Given the description of an element on the screen output the (x, y) to click on. 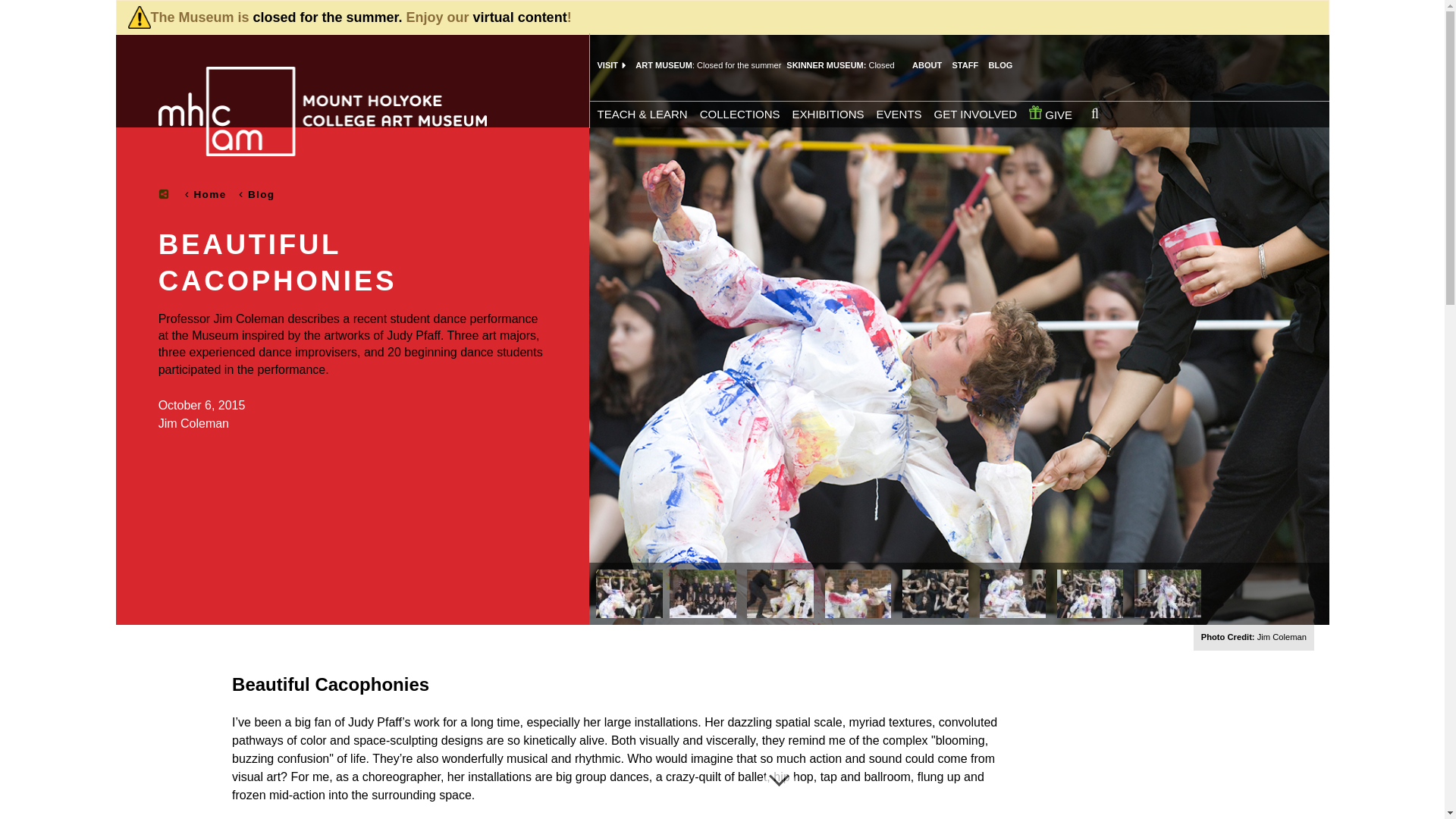
Mount Holyoke College Art Museum (322, 111)
Student dancers perform outside the Museum (628, 593)
Student dancers perform outside the Museum (1167, 593)
Student dancers perform outside the Museum (1012, 593)
Student dancers perform outside the Museum (858, 593)
Student dancers perform outside the Museum (702, 593)
Student dancers perform outside the Museum (935, 593)
closed for the summer. (328, 17)
Student dancers perform outside the Museum (779, 593)
Student dancers perform outside the Museum (1090, 593)
